Given the description of an element on the screen output the (x, y) to click on. 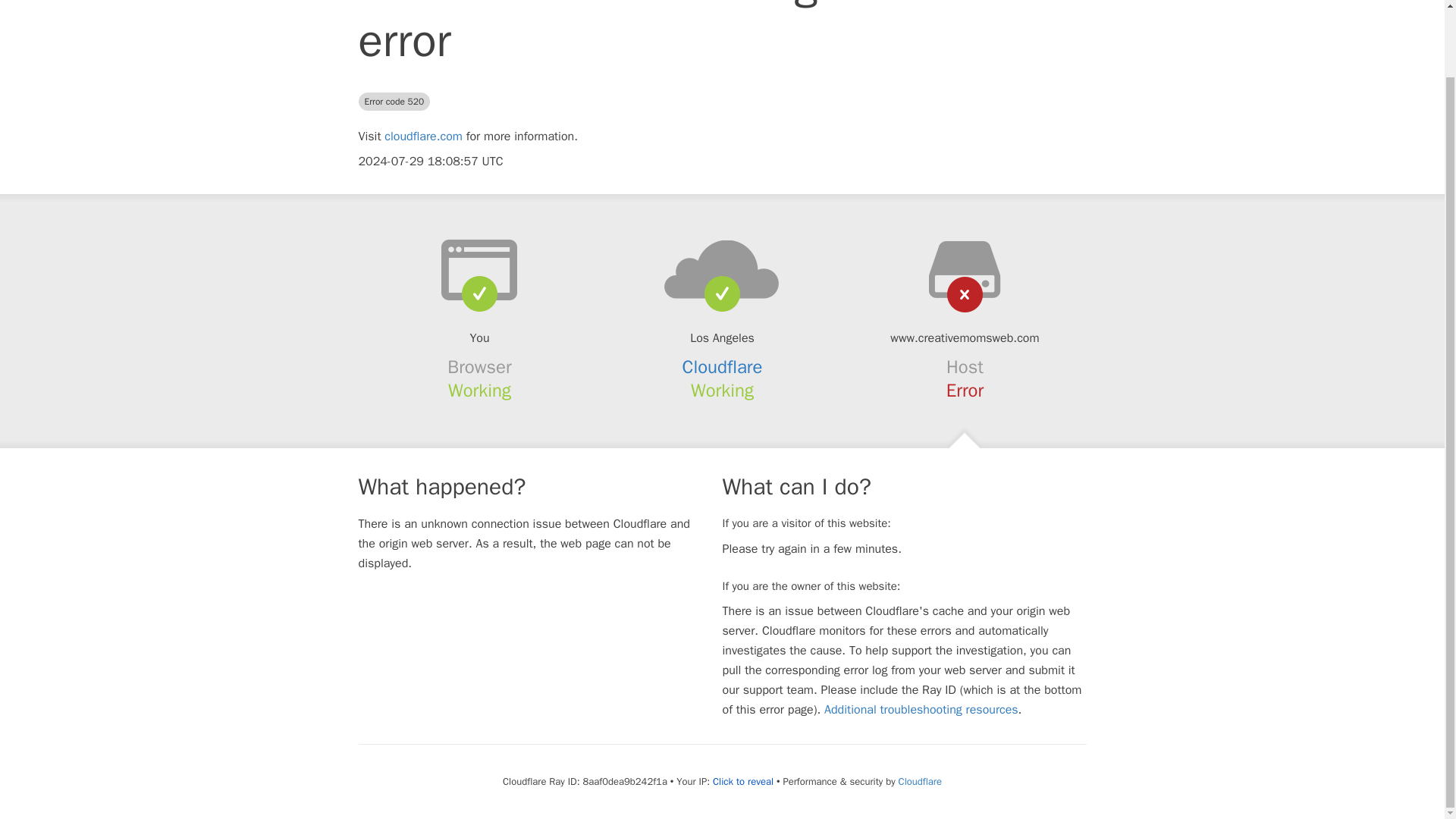
Click to reveal (743, 781)
cloudflare.com (423, 136)
Additional troubleshooting resources (920, 709)
Cloudflare (722, 366)
Cloudflare (920, 780)
